Given the description of an element on the screen output the (x, y) to click on. 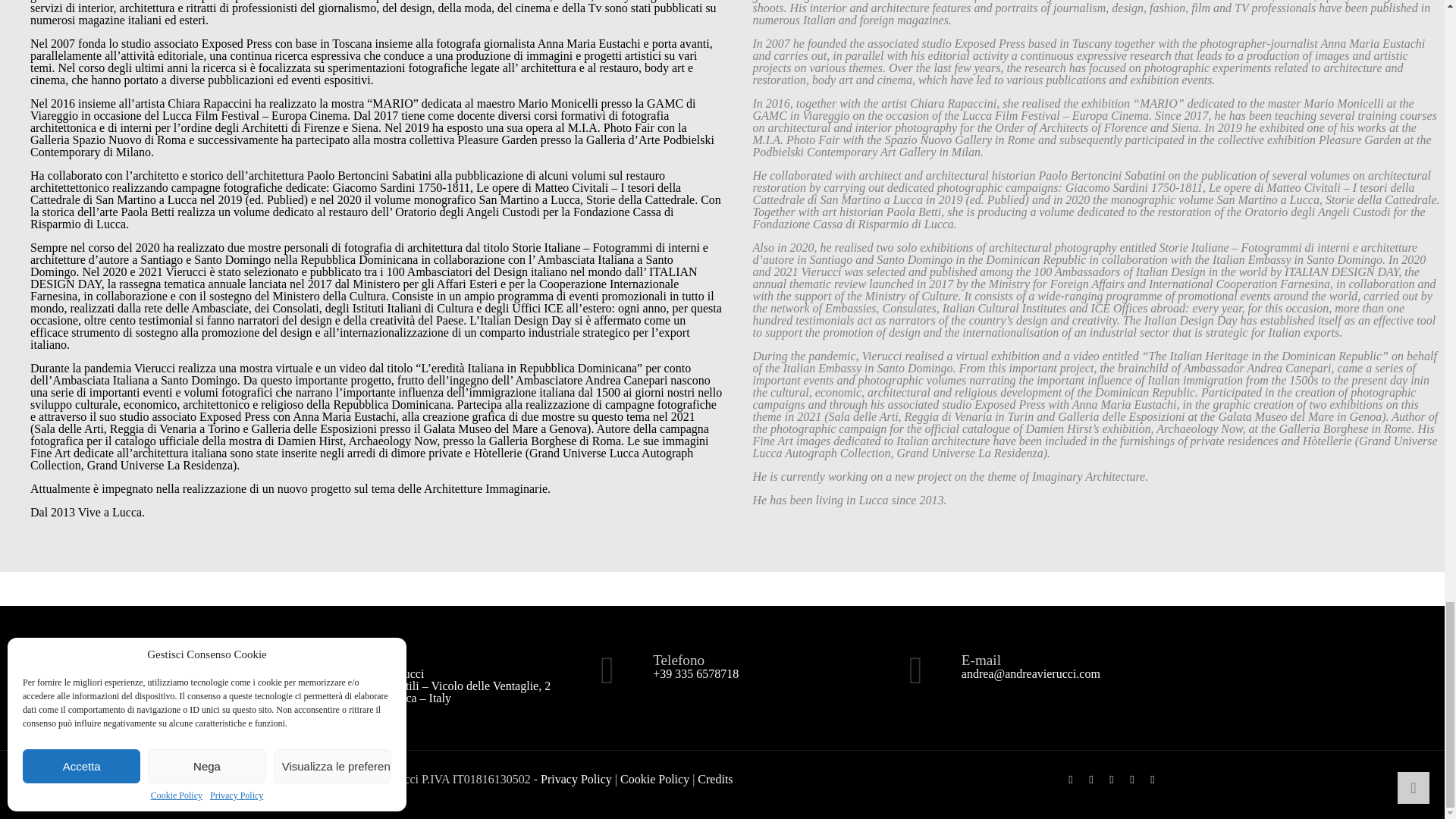
Privacy Policy (575, 778)
Cookie Policy (654, 778)
Credits (714, 778)
Facebook (1070, 779)
